Given the description of an element on the screen output the (x, y) to click on. 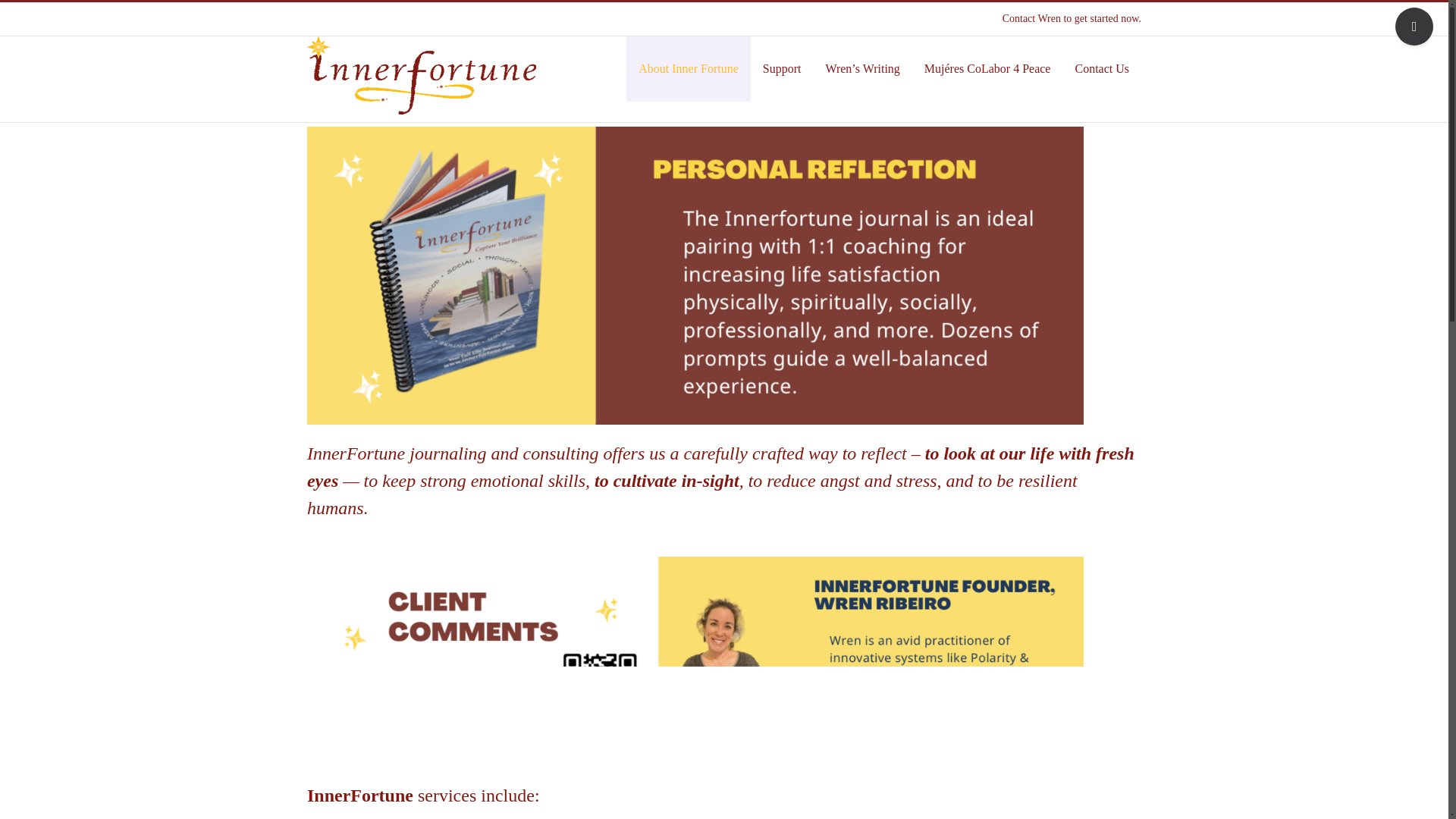
About Inner Fortune (688, 68)
Support (782, 68)
Contact Us (1101, 68)
